Given the description of an element on the screen output the (x, y) to click on. 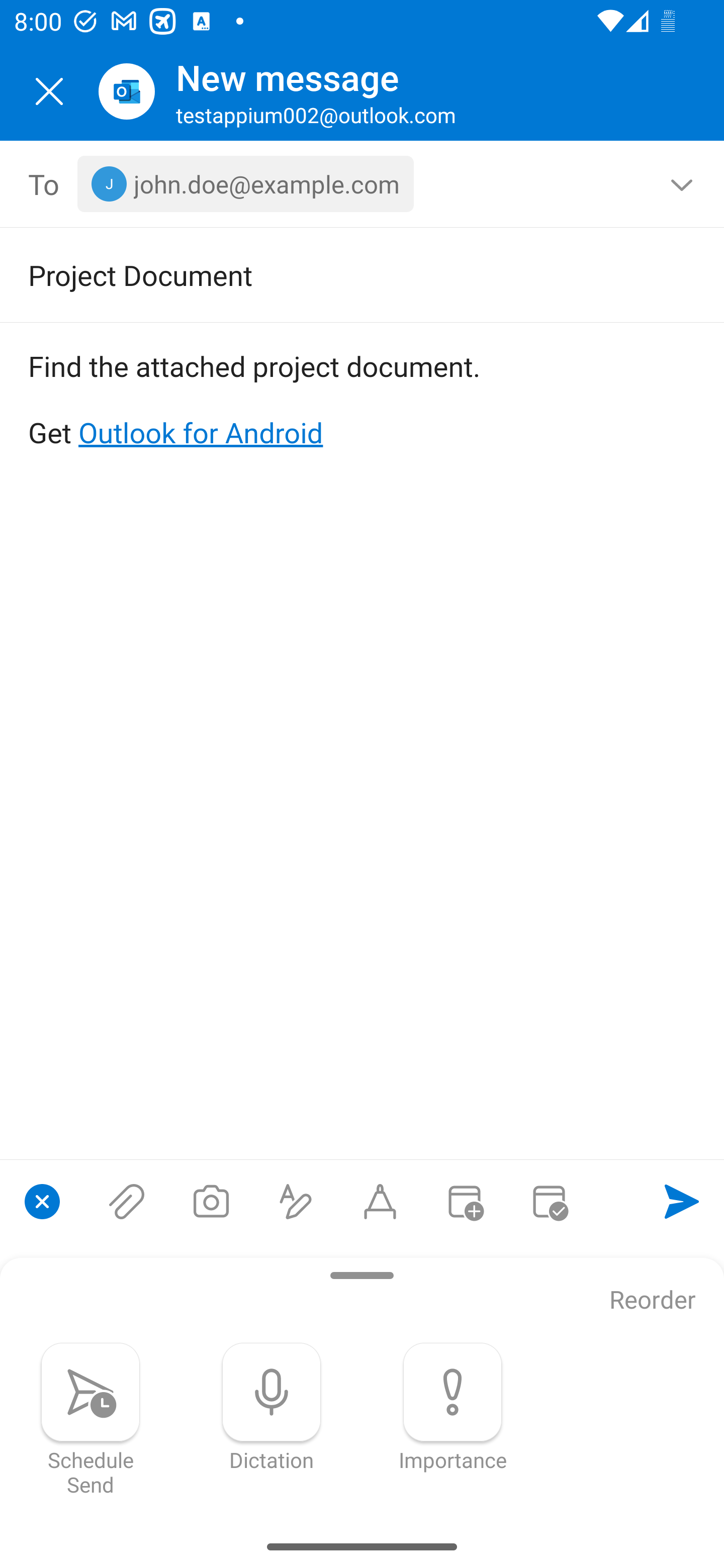
Close (49, 91)
To, 1 recipient <john.doe@example.com> (362, 184)
Project Document (333, 274)
Close compose options (42, 1200)
Attach files (126, 1200)
Take a photo (210, 1200)
Show formatting options (295, 1200)
Start Ink compose (380, 1200)
Convert to event (464, 1200)
Send availability (548, 1200)
Send (681, 1200)
Reorder (652, 1300)
Schedule Send (90, 1419)
Dictation (271, 1406)
Importance (452, 1406)
